Given the description of an element on the screen output the (x, y) to click on. 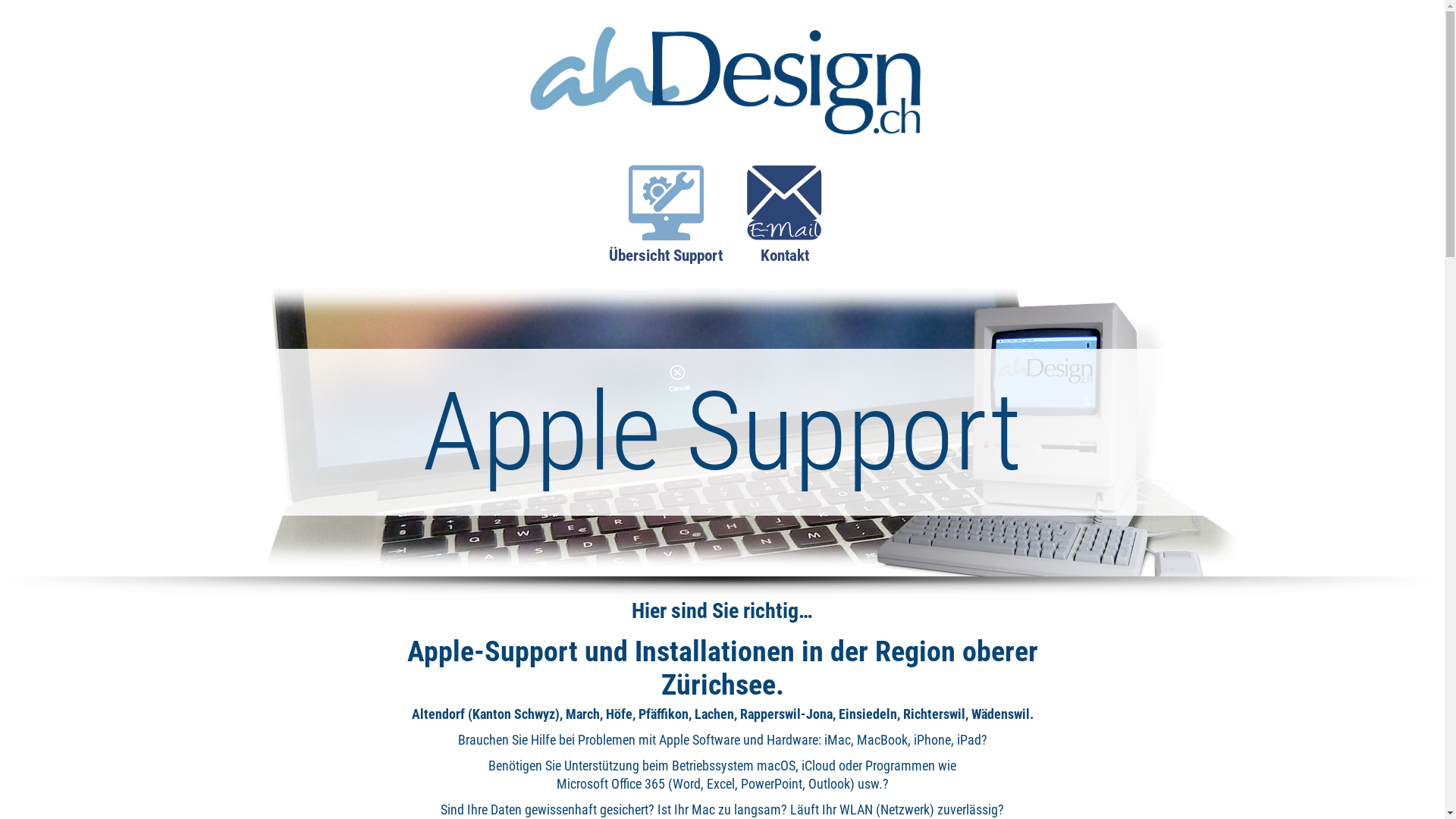
Kontakt Element type: text (784, 223)
